Given the description of an element on the screen output the (x, y) to click on. 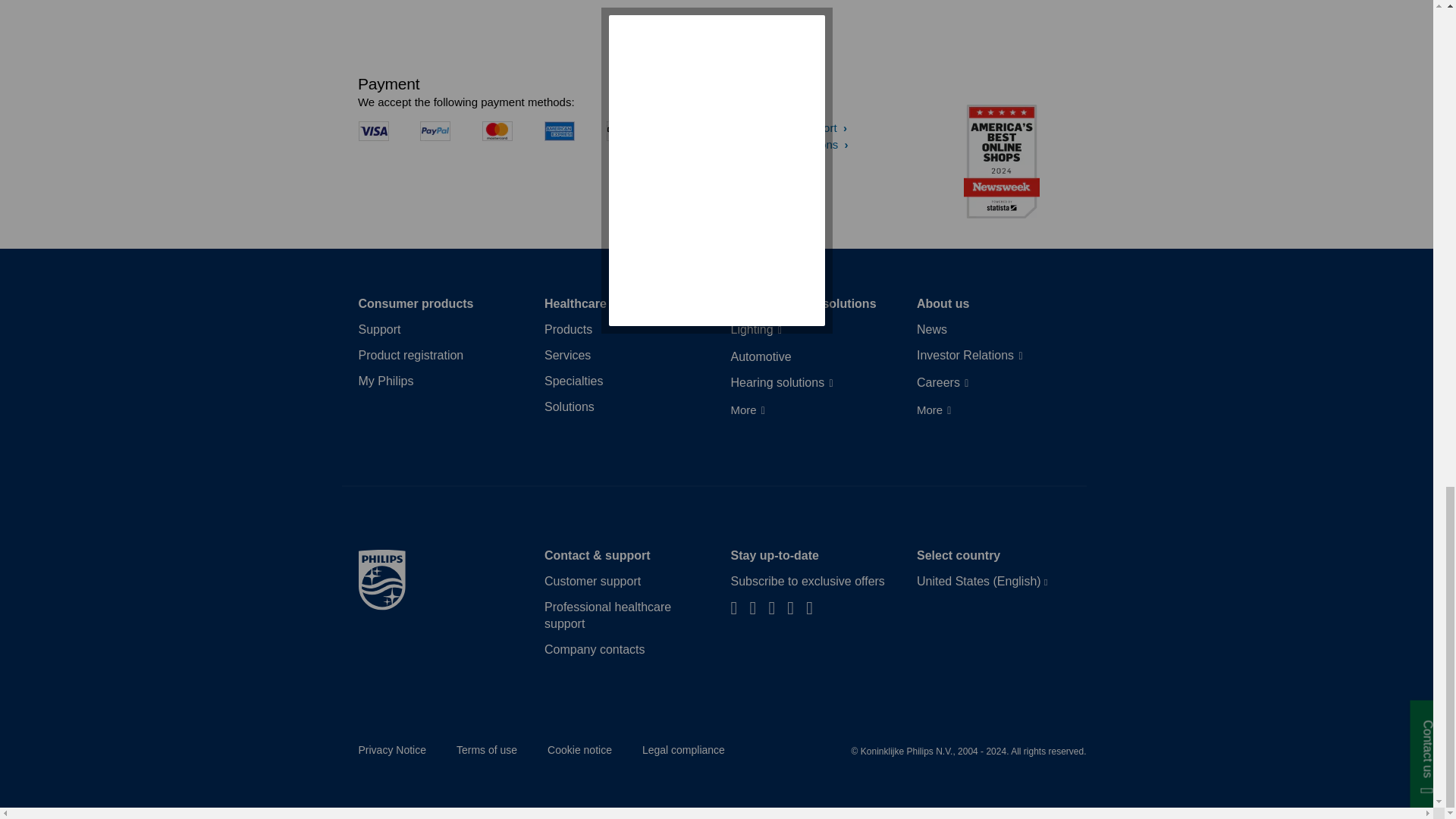
Healthcare professionals (616, 303)
Consumer products (415, 303)
Product registration (410, 355)
Support (379, 329)
My Philips (385, 381)
